Given the description of an element on the screen output the (x, y) to click on. 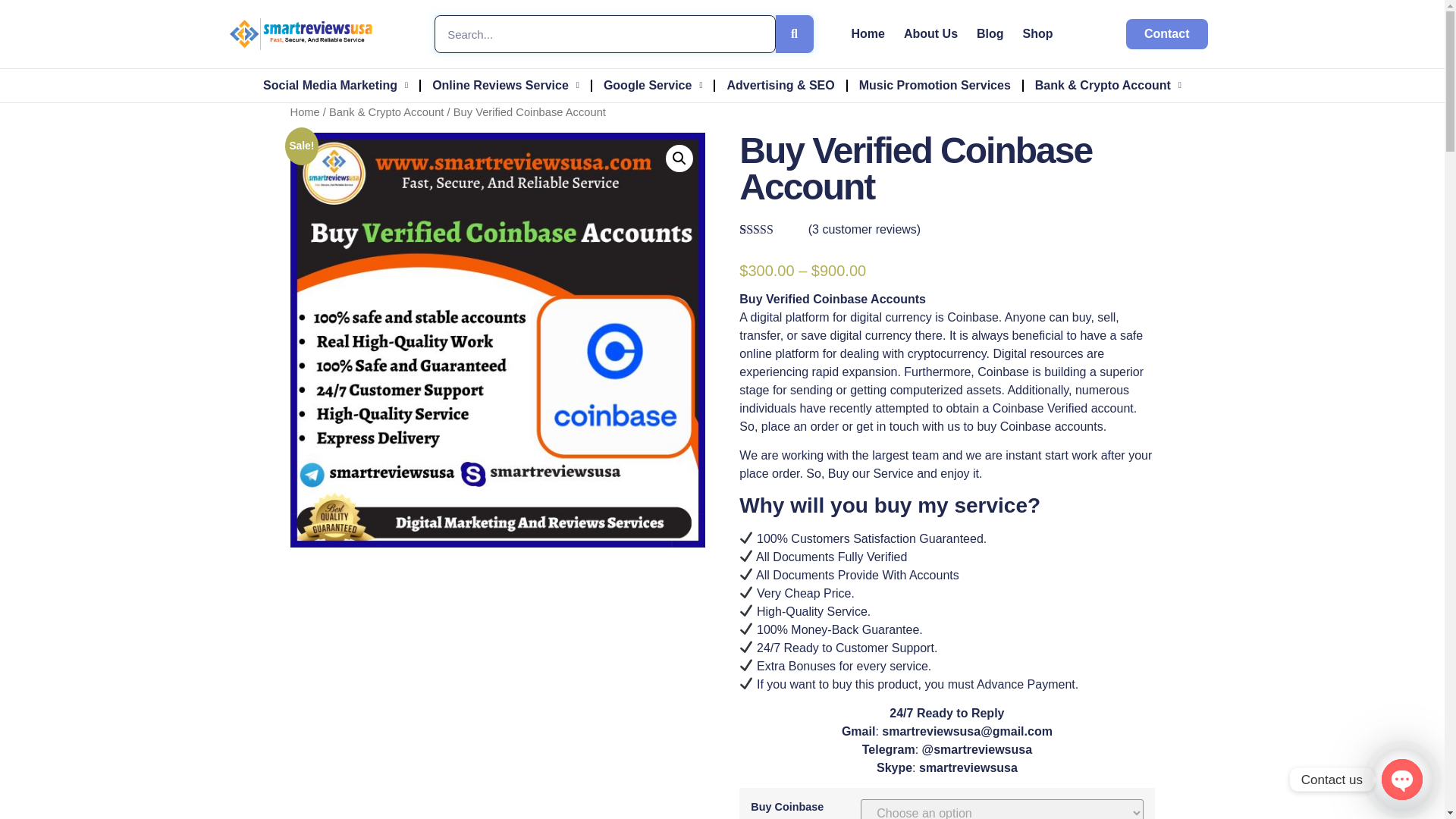
About Us (931, 33)
Google Service (653, 85)
Contact (1166, 33)
Shop (1037, 33)
Online Reviews Service (505, 85)
Search (603, 34)
Home (866, 33)
Search (793, 34)
Social Media Marketing (335, 85)
